Given the description of an element on the screen output the (x, y) to click on. 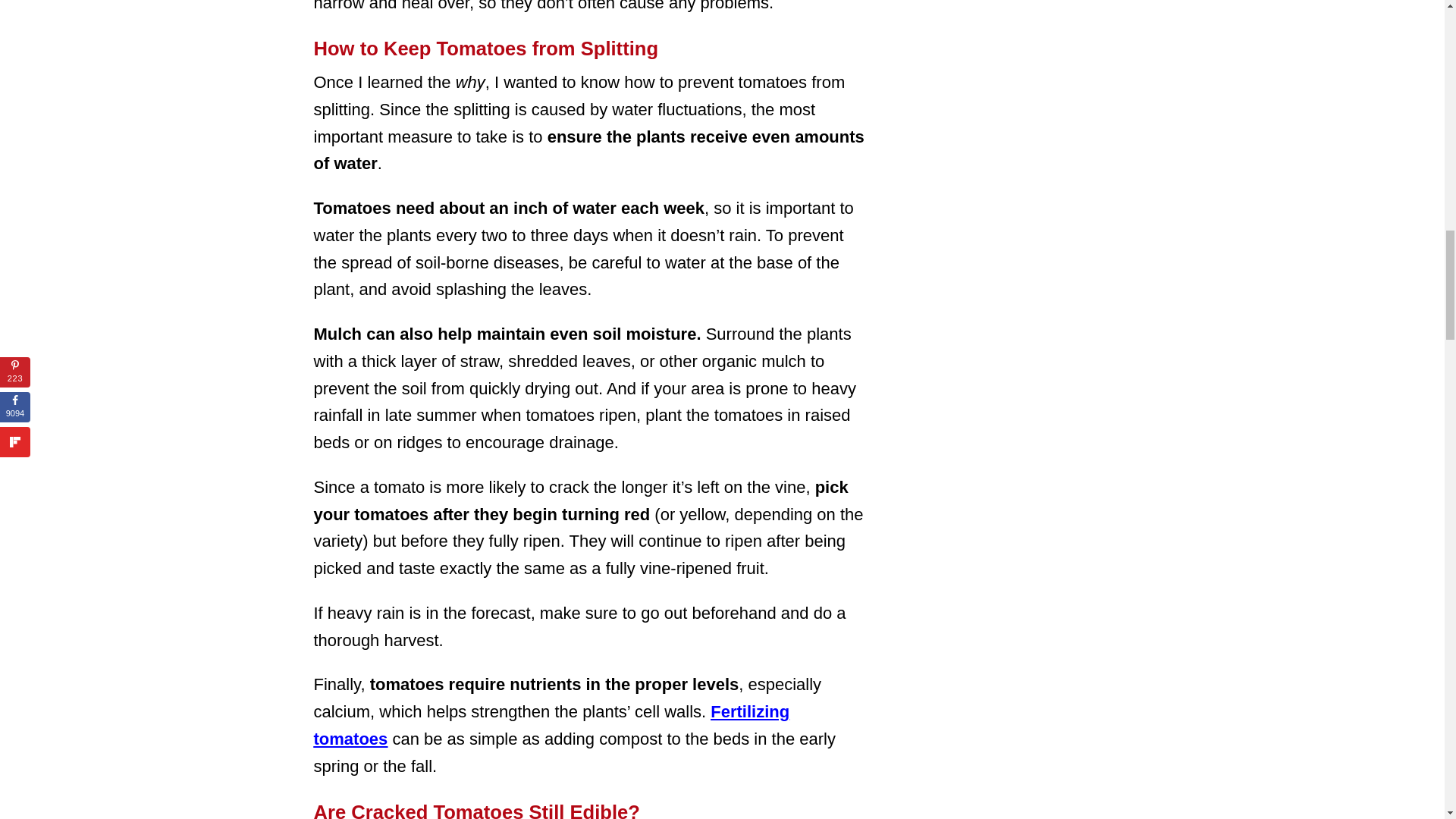
Fertilizing tomatoes (552, 724)
